Given the description of an element on the screen output the (x, y) to click on. 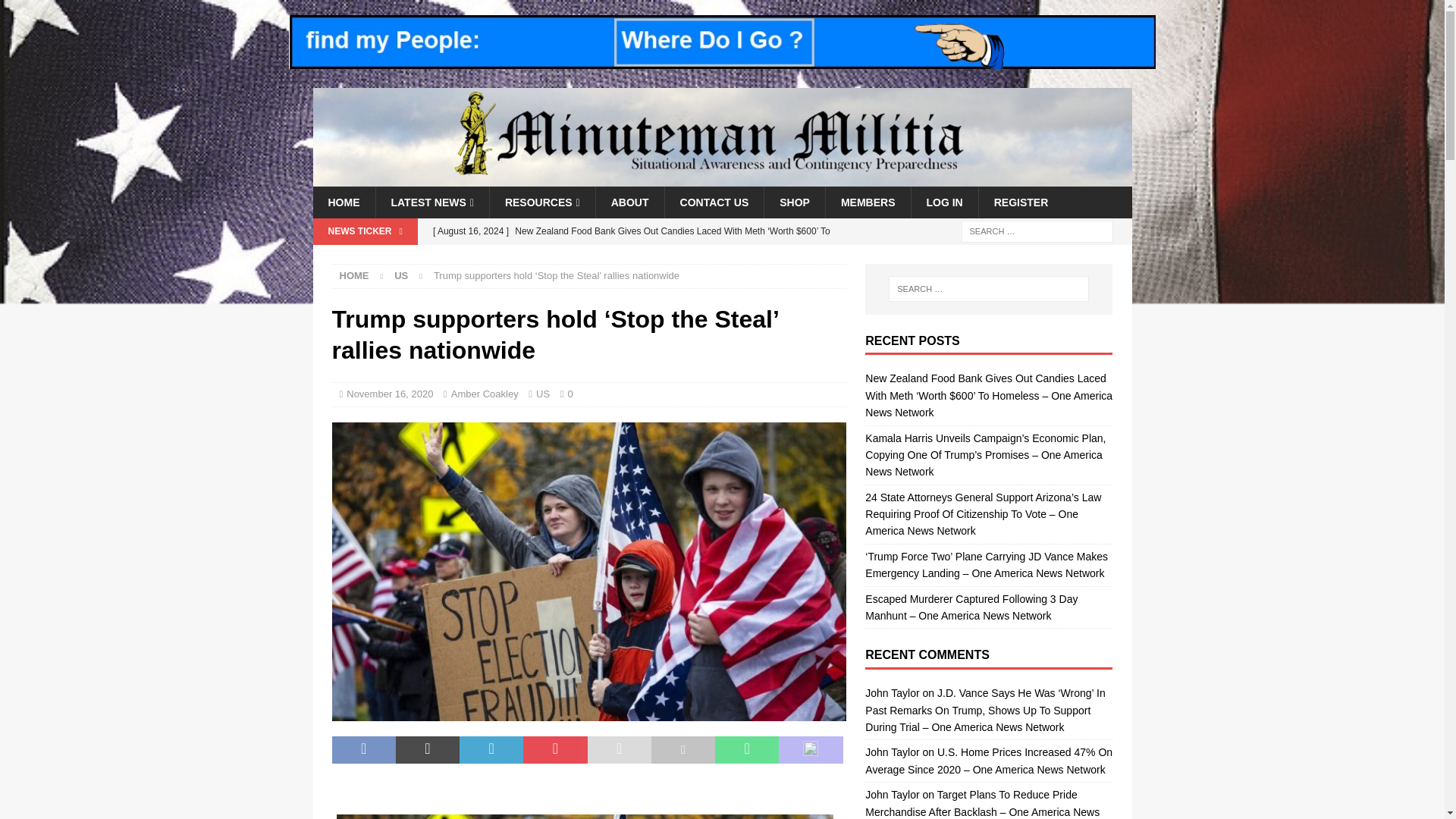
November 16, 2020 (389, 393)
Tweet This Post (428, 749)
SHOP (793, 202)
US (400, 275)
Print this article (682, 749)
Share on Facebook (363, 749)
ABOUT (629, 202)
US (400, 275)
Share on LinkedIn (491, 749)
